Given the description of an element on the screen output the (x, y) to click on. 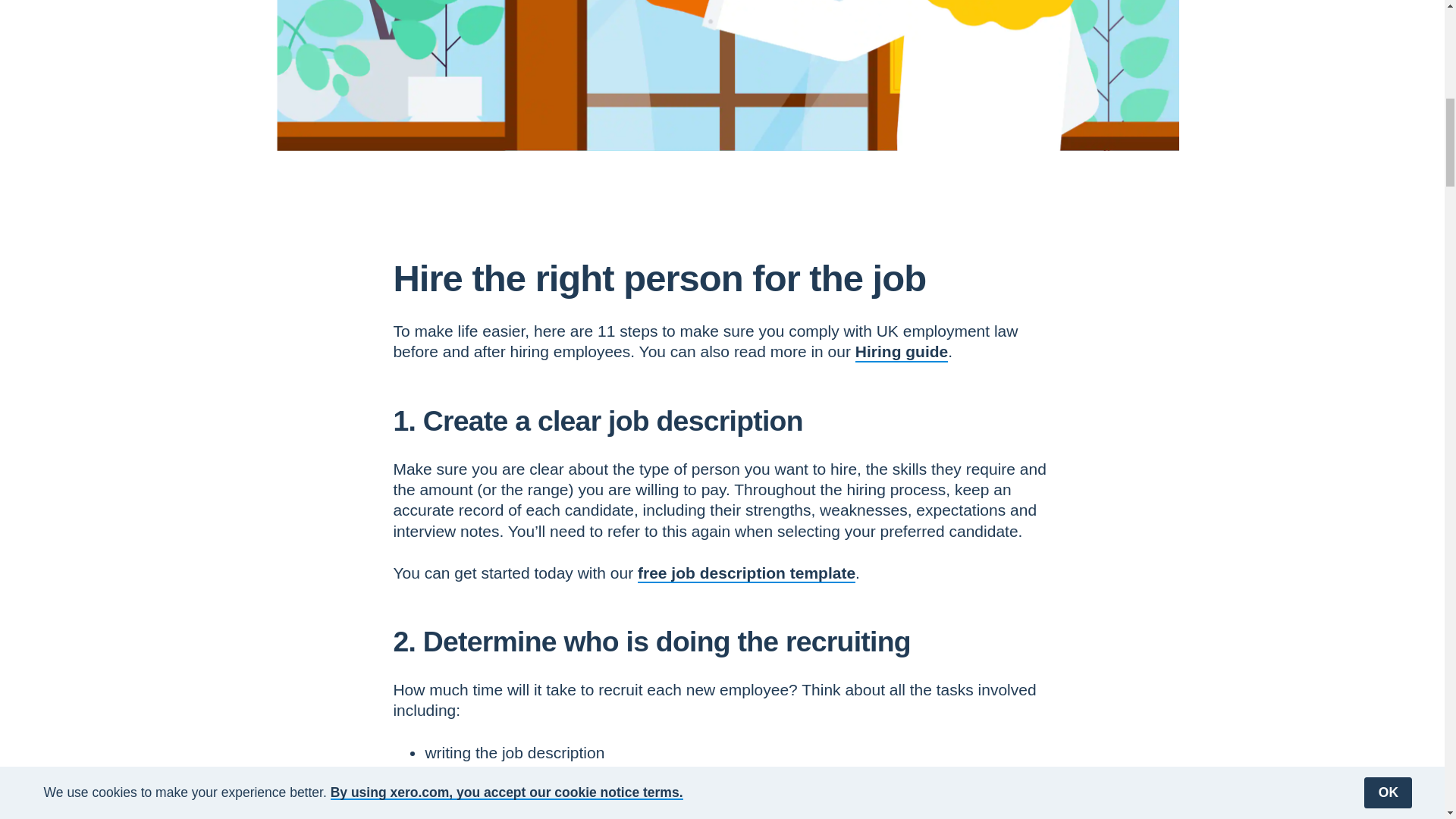
Hiring guide (902, 351)
free job description template (746, 572)
